Given the description of an element on the screen output the (x, y) to click on. 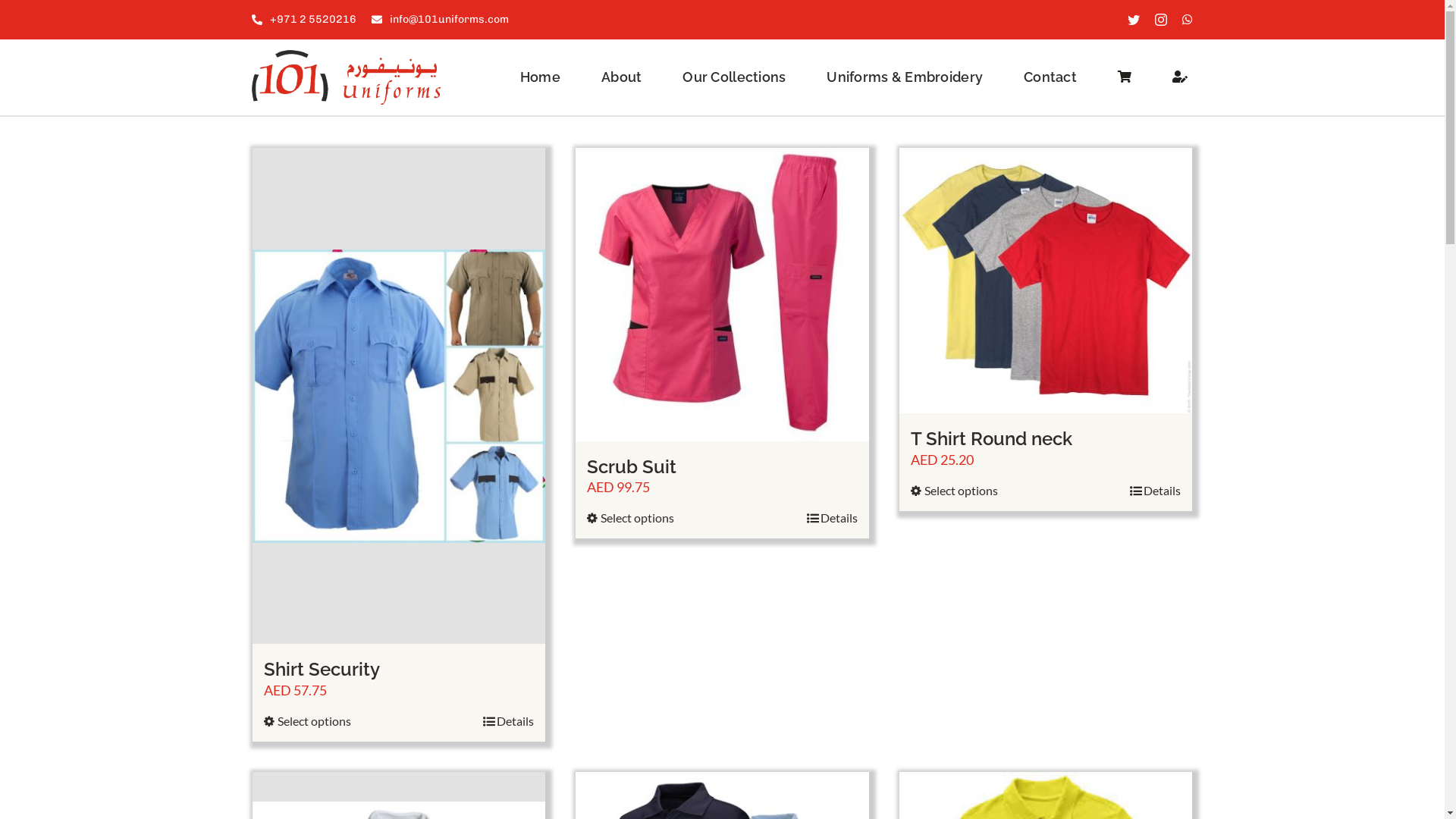
info@101uniforms.com Element type: text (439, 19)
Instagram Element type: hover (1160, 19)
Select options Element type: text (630, 517)
Select options Element type: text (307, 721)
Home Element type: text (539, 77)
Details Element type: text (508, 721)
Shirt Security Element type: text (321, 669)
WhatsApp Element type: hover (1187, 19)
T Shirt Round neck Element type: text (991, 438)
About Element type: text (621, 77)
Scrub Suit Element type: text (631, 466)
Uniforms & Embroidery Element type: text (904, 77)
+971 2 5520216 Element type: text (303, 19)
Twitter Element type: hover (1133, 19)
Our Collections Element type: text (733, 77)
Details Element type: text (831, 517)
Contact Element type: text (1050, 77)
Details Element type: text (1154, 490)
Show 12 Products Element type: text (489, 100)
Select options Element type: text (953, 490)
Sort by Popularity Element type: text (297, 100)
